Given the description of an element on the screen output the (x, y) to click on. 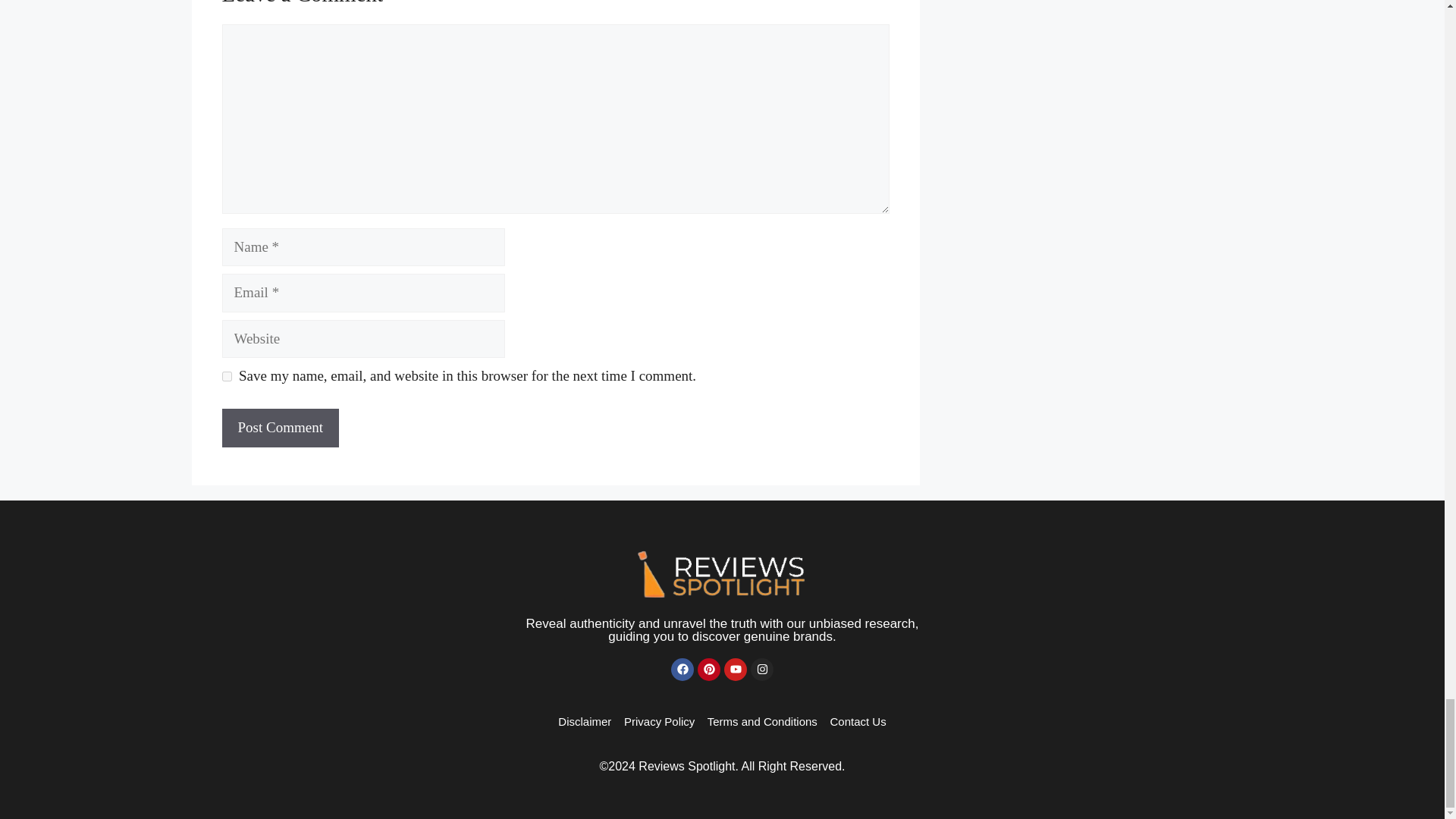
Disclaimer (584, 721)
Post Comment (279, 427)
Post Comment (279, 427)
Privacy Policy (659, 721)
yes (226, 376)
